Given the description of an element on the screen output the (x, y) to click on. 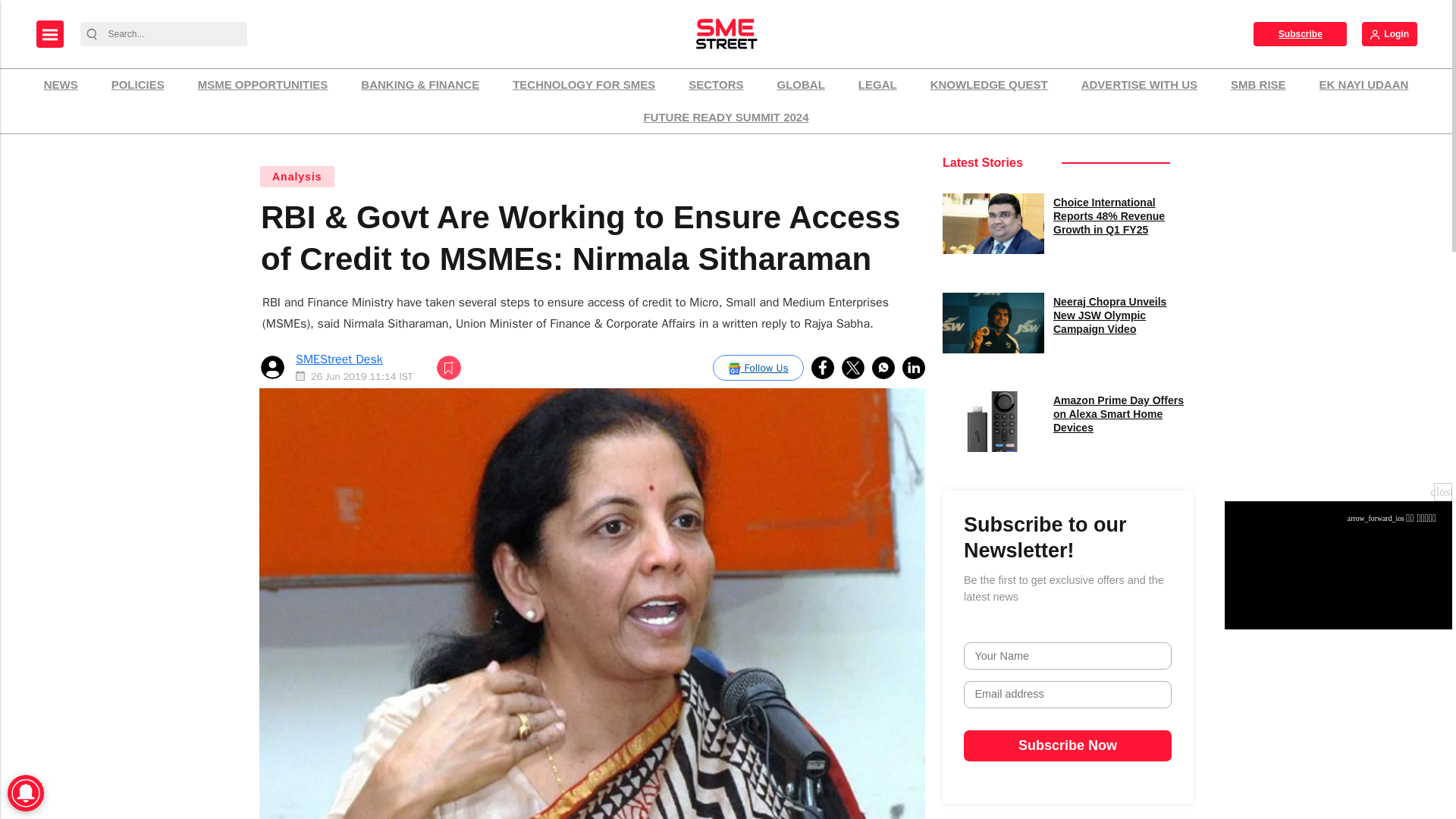
ADVERTISE WITH US (1139, 84)
SMB RISE (1258, 84)
MSME OPPORTUNITIES (262, 84)
Login (1388, 33)
SECTORS (715, 84)
Analysis (296, 176)
GLOBAL (800, 84)
POLICIES (138, 84)
FUTURE READY SUMMIT 2024 (725, 117)
NEWS (60, 84)
EK NAYI UDAAN (1364, 84)
LEGAL (877, 84)
TECHNOLOGY FOR SMES (583, 84)
Subscribe (1299, 33)
SMEStreet Desk (338, 359)
